Given the description of an element on the screen output the (x, y) to click on. 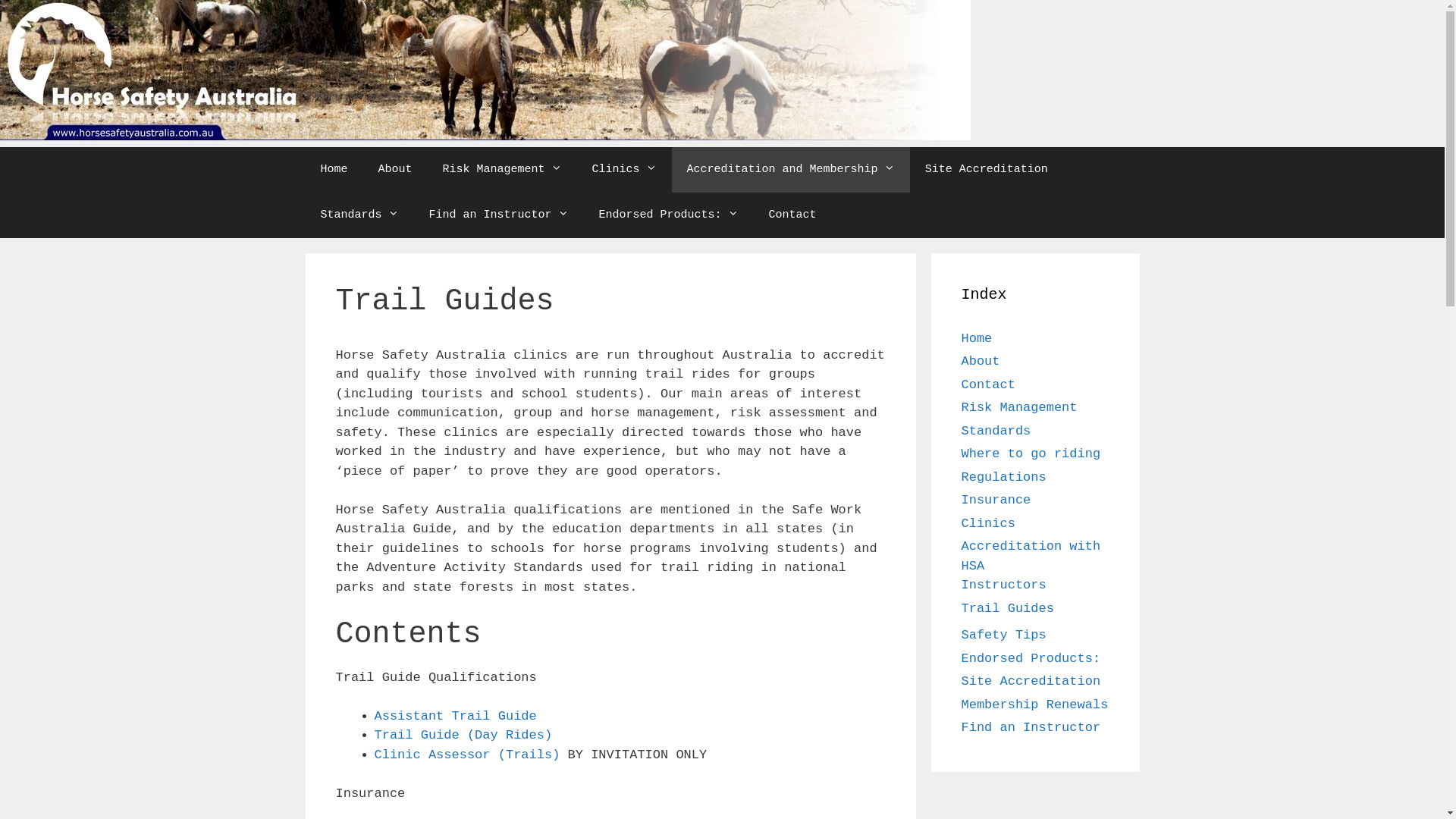
Risk Management Element type: text (502, 169)
Risk Management Element type: text (1019, 407)
Trail Guides Element type: text (1007, 607)
Clinics Element type: text (624, 169)
Accreditation and Membership Element type: text (790, 169)
Insurance Element type: text (996, 499)
Accreditation with HSA Element type: text (1031, 556)
Find an Instructor Element type: text (498, 215)
Contact Element type: text (792, 215)
Find an Instructor Element type: text (1031, 727)
Clinic Assessor Element type: text (436, 754)
Standards Element type: text (358, 215)
About Element type: text (395, 169)
Regulations Element type: text (1003, 477)
Assistant Trail Guide Element type: text (455, 715)
(Trails) Element type: text (529, 754)
Home Element type: text (333, 169)
Contact Element type: text (988, 384)
Endorsed Products: Element type: text (668, 215)
Instructors Element type: text (1003, 584)
Trail Guide (Day Rides) Element type: text (463, 735)
Home Element type: text (976, 337)
Standards Element type: text (996, 430)
About Element type: text (980, 361)
Membership Renewals Element type: text (1034, 704)
Endorsed Products: Element type: text (1031, 657)
Clinics Element type: text (988, 522)
Where to go riding Element type: text (1031, 453)
Site Accreditation Element type: text (1031, 681)
Site Accreditation Element type: text (986, 169)
Safety Tips Element type: text (1003, 634)
